Given the description of an element on the screen output the (x, y) to click on. 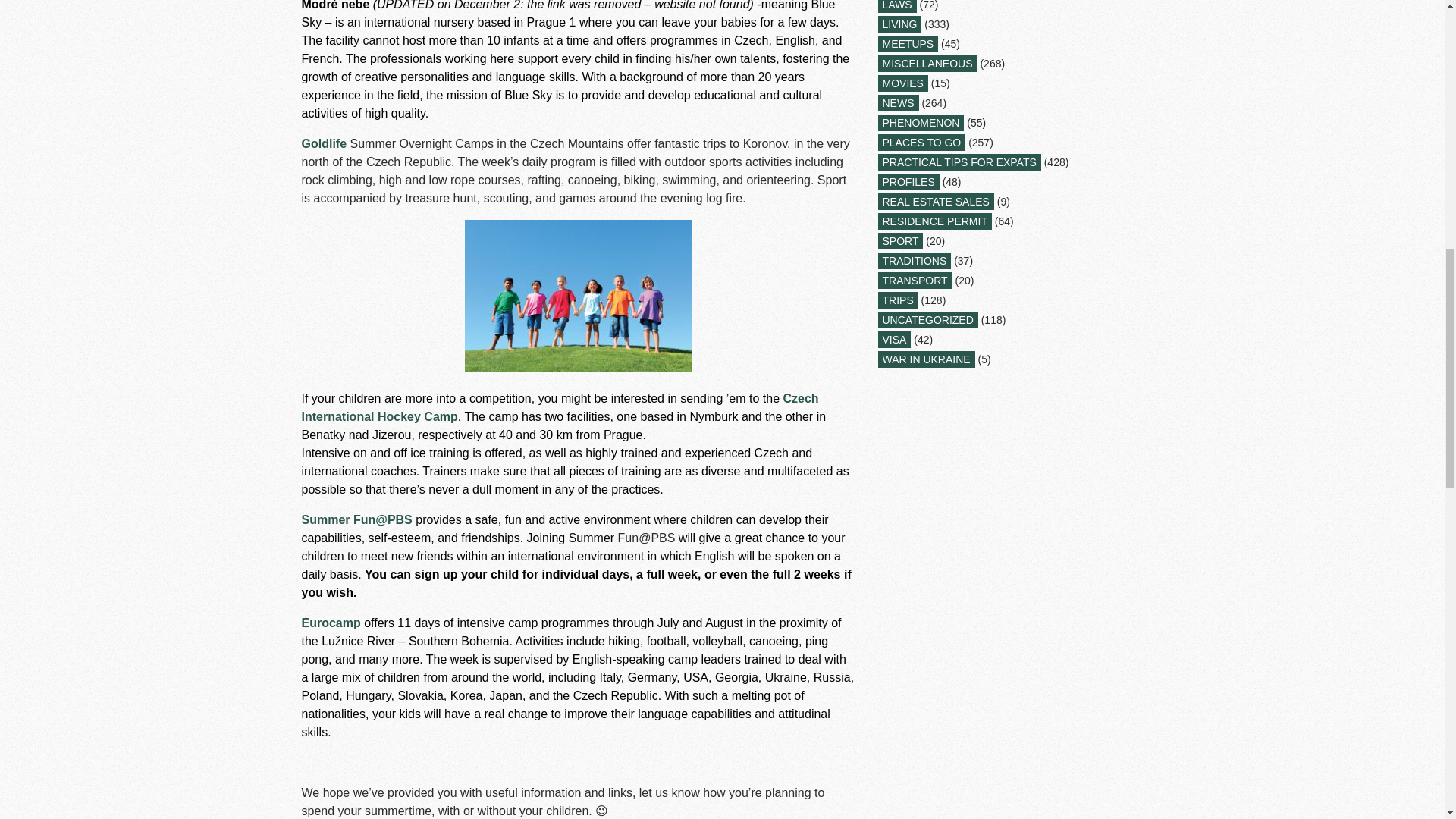
Czech International Hockey Camp (559, 407)
Eurocamp (331, 622)
Goldlife (324, 143)
